Given the description of an element on the screen output the (x, y) to click on. 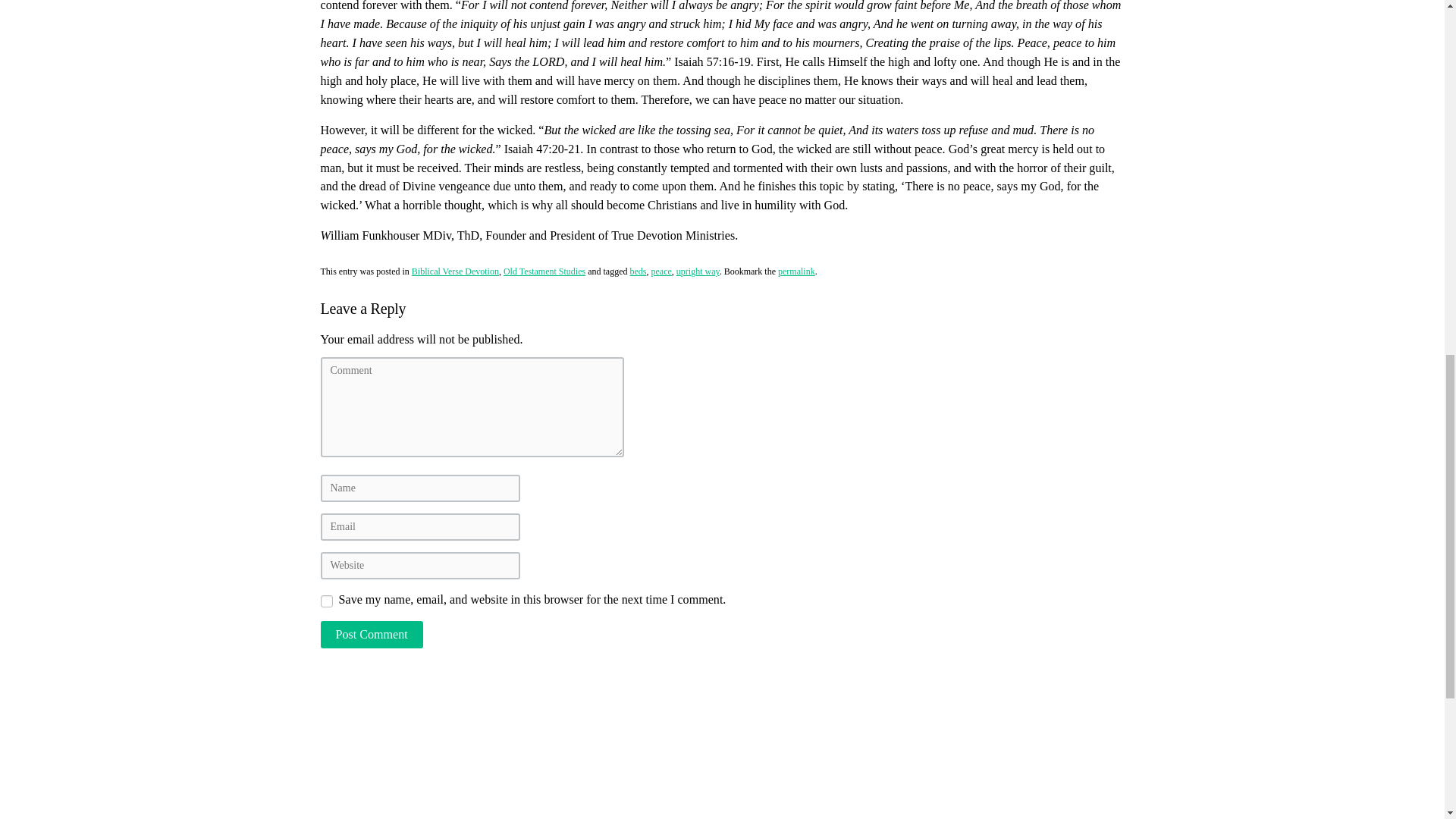
Permalink to Isaiah 57:2 (796, 271)
yes (325, 600)
Old Testament Studies (544, 271)
beds (637, 271)
Post Comment (371, 634)
Biblical Verse Devotion (455, 271)
Post Comment (371, 634)
permalink (796, 271)
peace (660, 271)
upright way (698, 271)
